Given the description of an element on the screen output the (x, y) to click on. 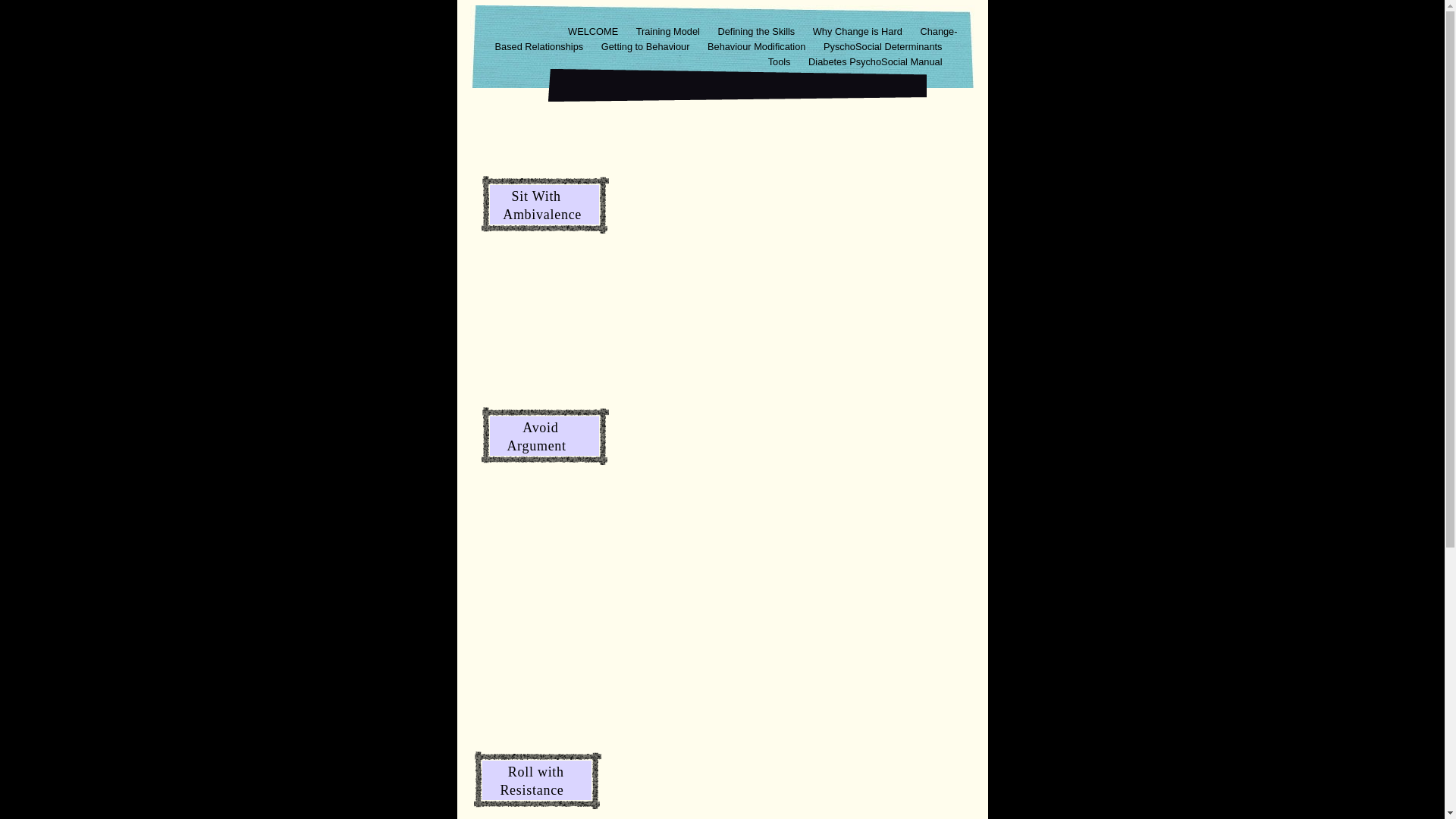
Defining the Skills Element type: text (757, 31)
Training Model Element type: text (669, 31)
Change-Based Relationships Element type: text (726, 38)
Diabetes PsychoSocial Manual Element type: text (874, 61)
Tools Element type: text (780, 61)
Why Change is Hard Element type: text (858, 31)
PyschoSocial Determinants Element type: text (882, 46)
Behaviour Modification Element type: text (757, 46)
WELCOME Element type: text (594, 31)
Getting to Behaviour Element type: text (646, 46)
